Given the description of an element on the screen output the (x, y) to click on. 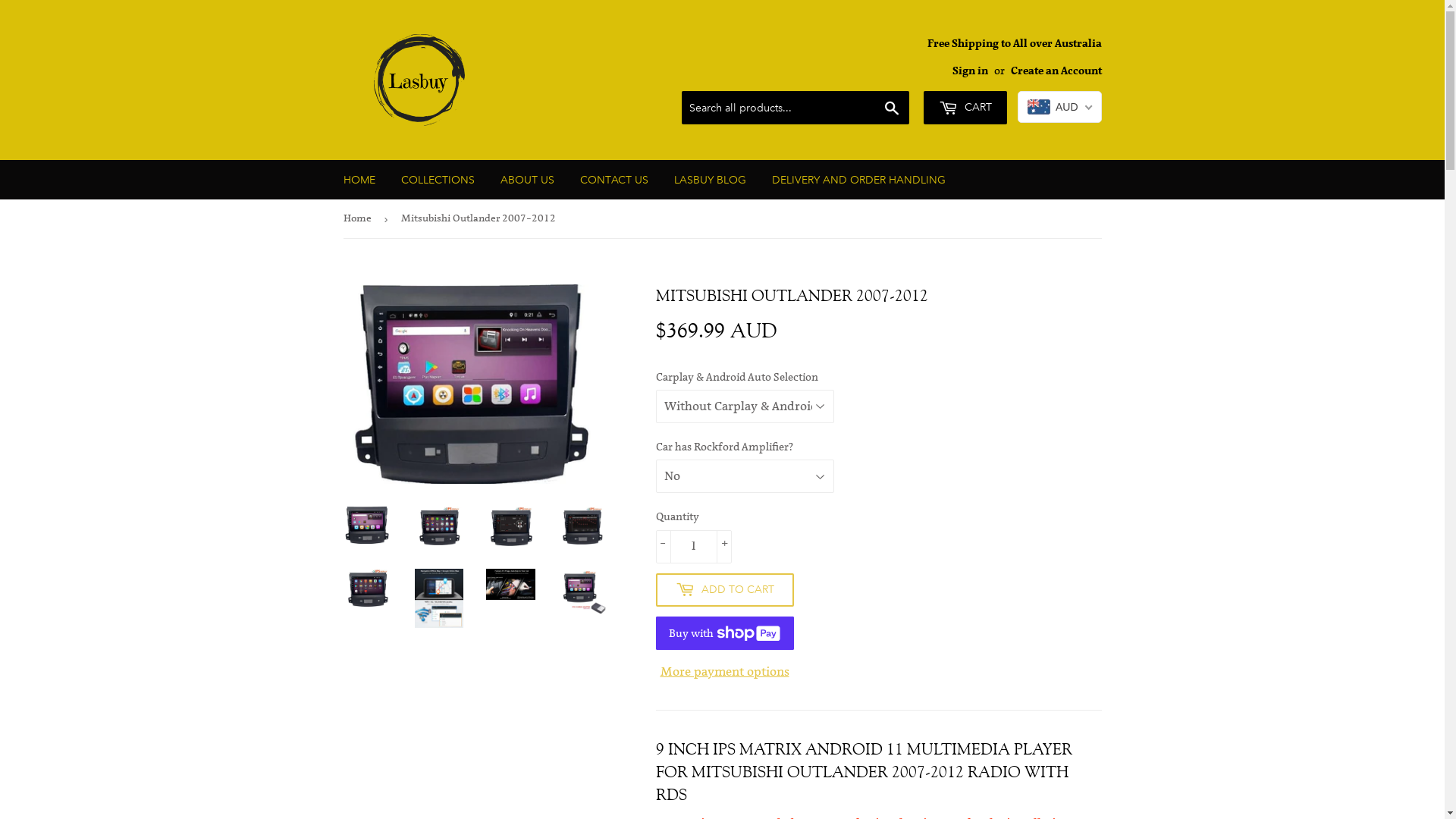
Search Element type: text (892, 108)
LASBUY BLOG Element type: text (709, 179)
ABOUT US Element type: text (526, 179)
Create an Account Element type: text (1055, 70)
COLLECTIONS Element type: text (437, 179)
Free Shipping to All over Australia Element type: text (1013, 56)
DELIVERY AND ORDER HANDLING Element type: text (857, 179)
Home Element type: text (359, 218)
ADD TO CART Element type: text (724, 589)
HOME Element type: text (359, 179)
Sign in Element type: text (970, 70)
More payment options Element type: text (724, 672)
CONTACT US Element type: text (613, 179)
CART Element type: text (965, 107)
